Given the description of an element on the screen output the (x, y) to click on. 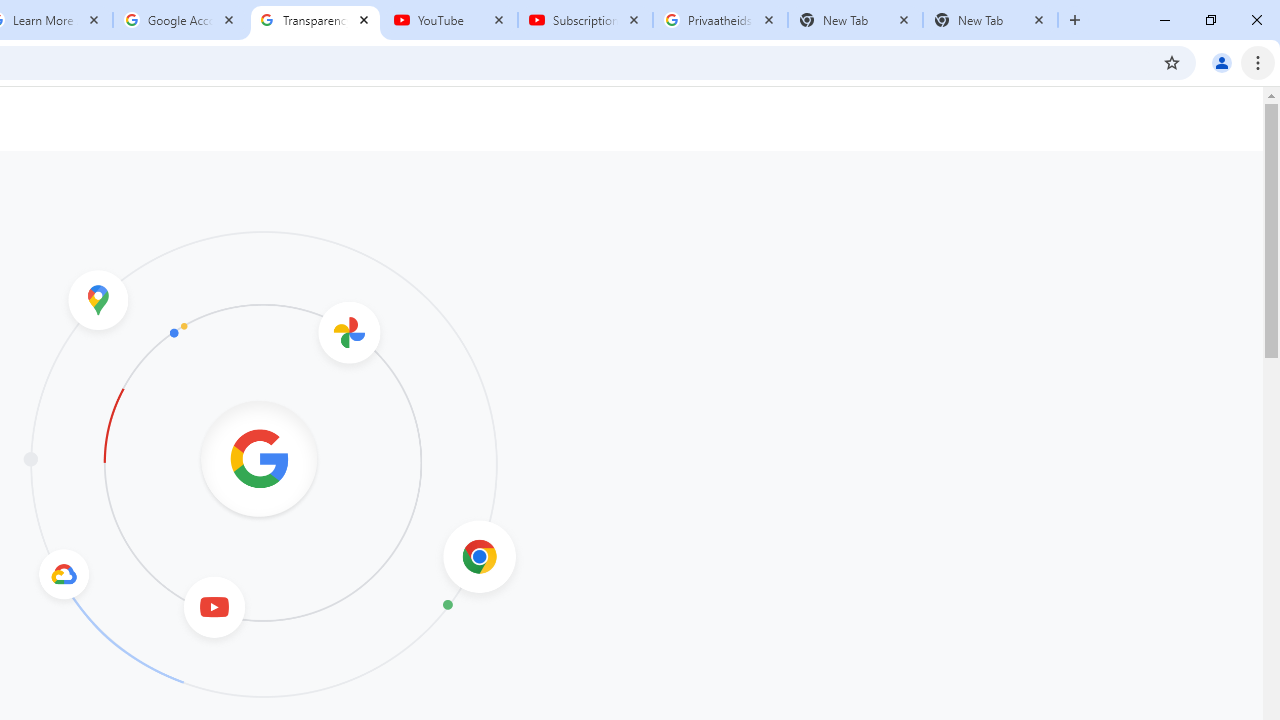
Minimize (1165, 20)
Close (1039, 19)
Restore (1210, 20)
Google Account (180, 20)
You (1221, 62)
Bookmark this tab (1171, 62)
New Tab (990, 20)
New Tab (1075, 20)
Subscriptions - YouTube (585, 20)
Chrome (1260, 62)
YouTube (450, 20)
